Given the description of an element on the screen output the (x, y) to click on. 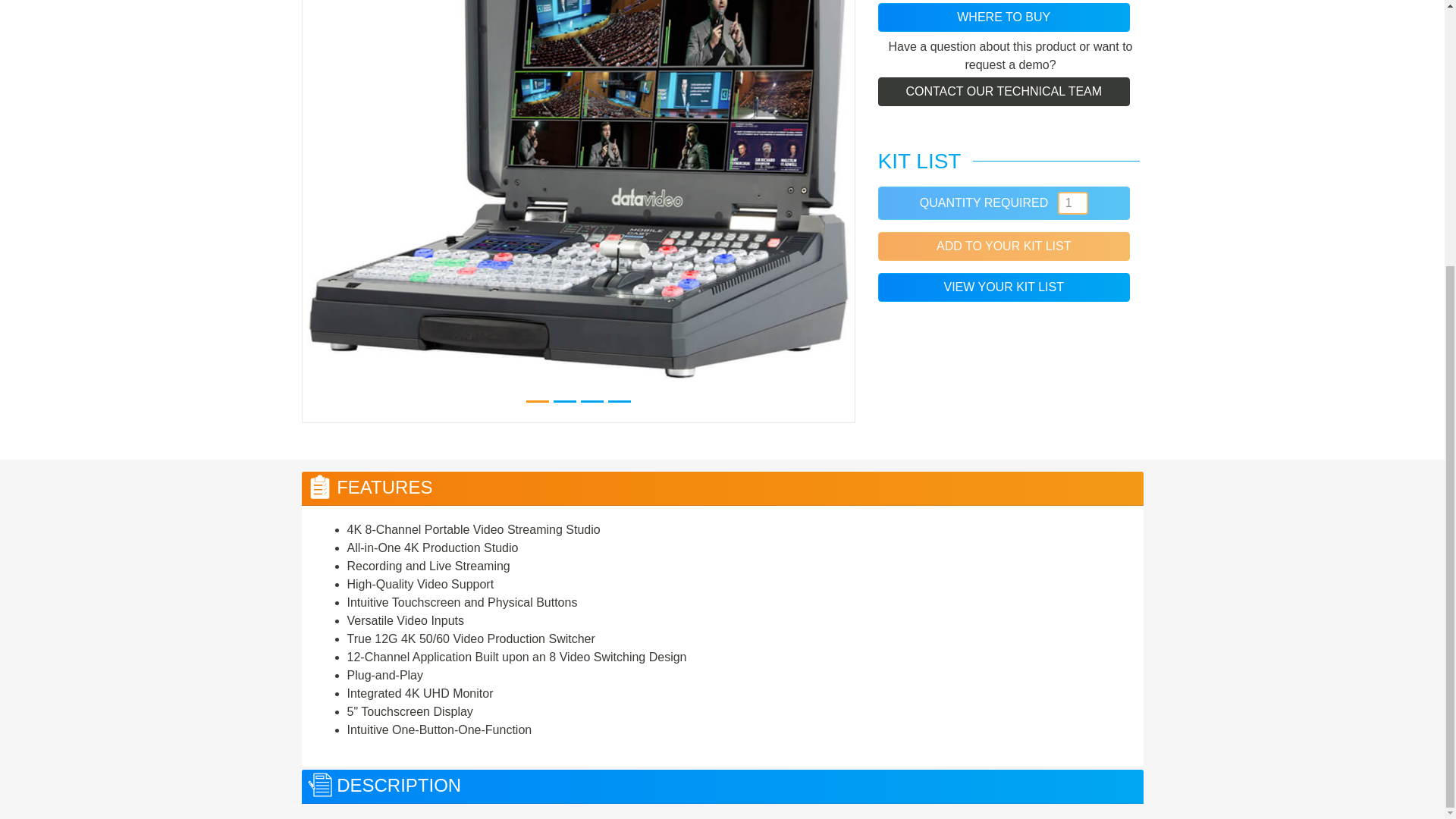
1 (1072, 202)
CONTACT OUR TECHNICAL TEAM (1003, 91)
WHERE TO BUY (1003, 17)
